Given the description of an element on the screen output the (x, y) to click on. 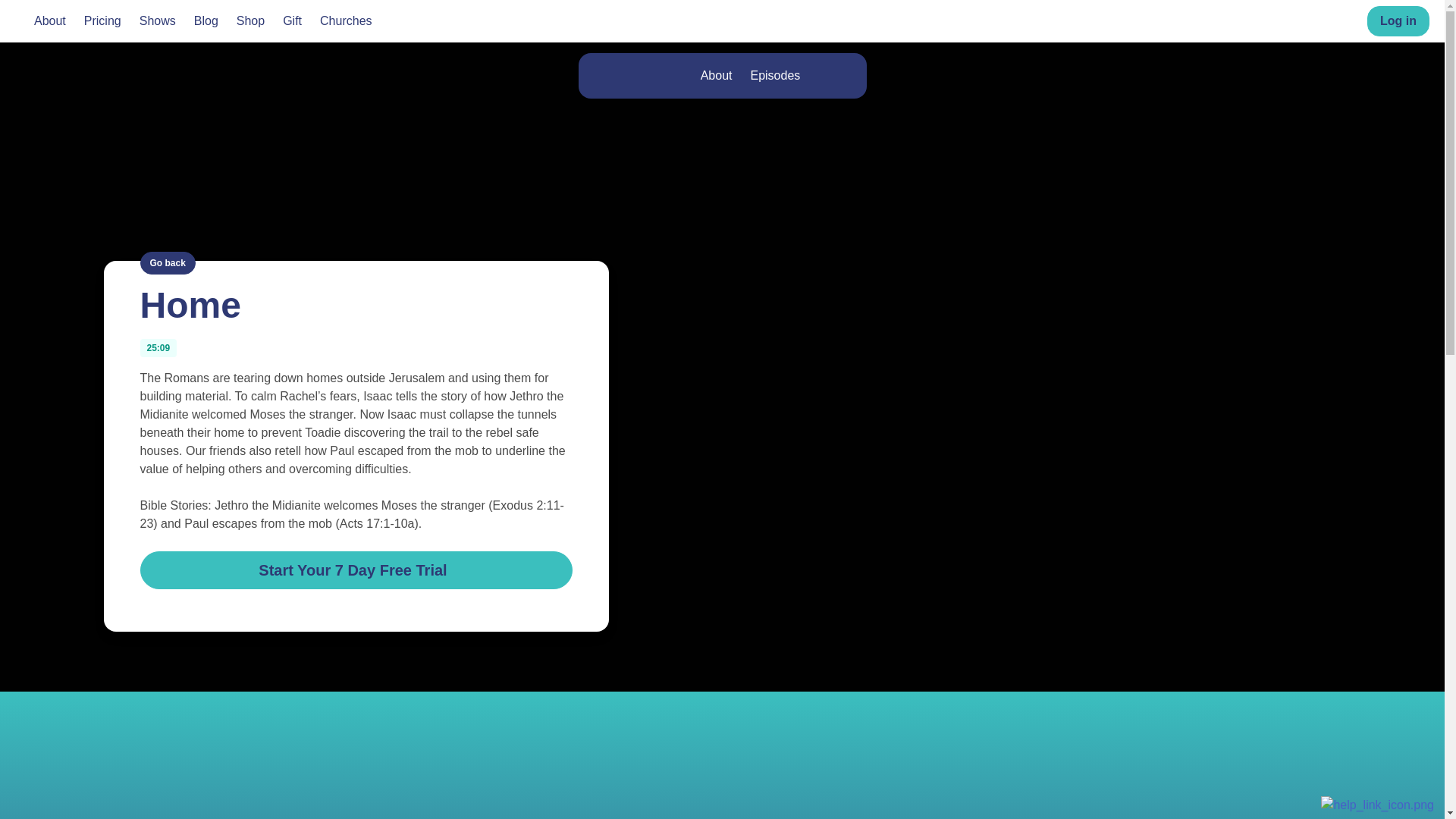
About (716, 75)
Log in (1398, 20)
Go back (167, 262)
Pricing (102, 21)
About (49, 21)
Gift (291, 21)
Shows (157, 21)
Churches (345, 21)
Blog (205, 21)
Start Your 7 Day Free Trial (355, 569)
